Given the description of an element on the screen output the (x, y) to click on. 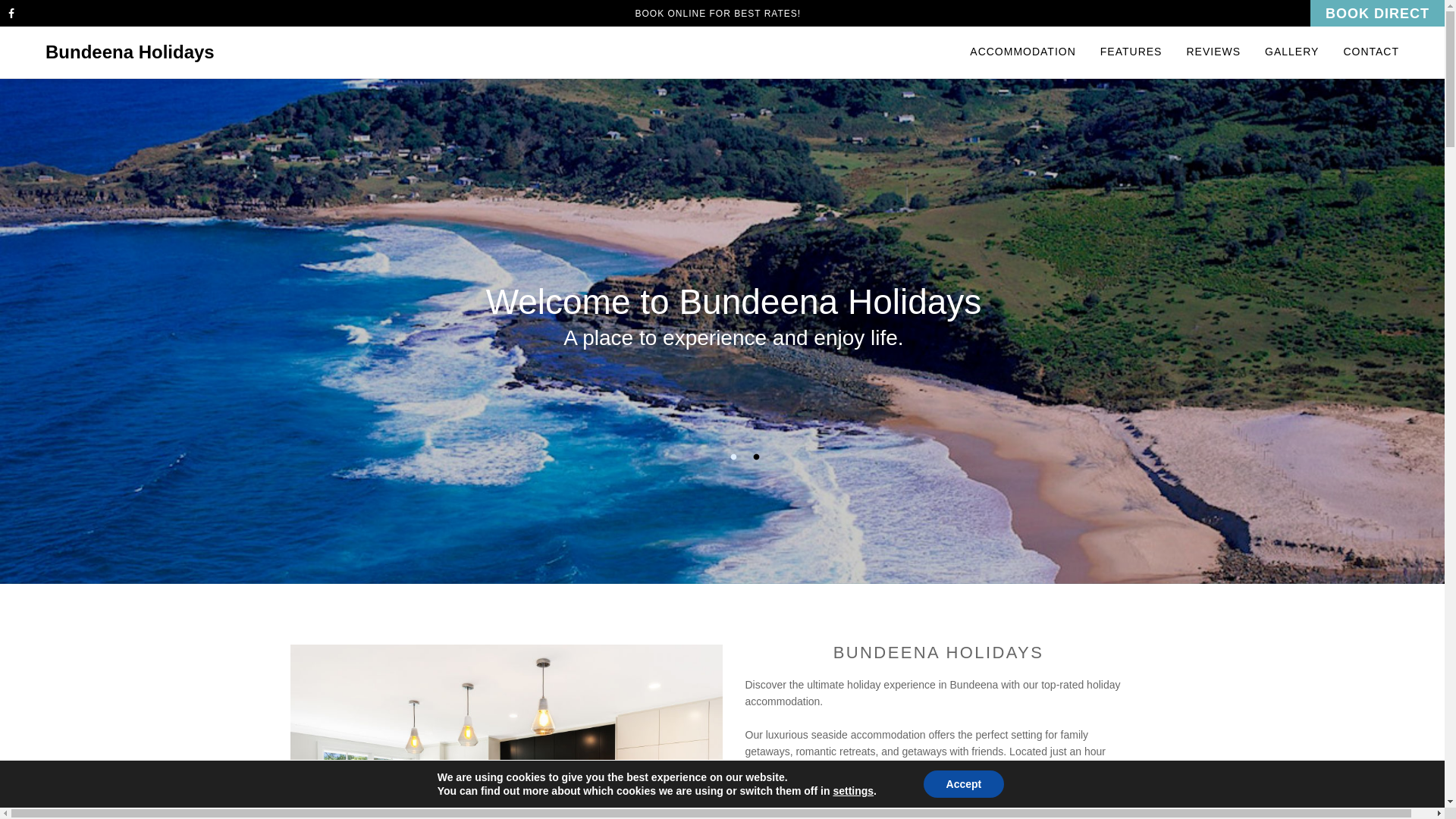
FACEBOOK Element type: text (15, 13)
CONTACT Element type: text (1364, 52)
Accept Element type: text (963, 783)
2 Element type: text (756, 456)
FEATURES Element type: text (1131, 52)
GALLERY Element type: text (1291, 52)
BOOK DIRECT Element type: text (1377, 13)
Bundeena Holidays Element type: text (129, 51)
BOOK ONLINE FOR BEST RATES! Element type: text (718, 13)
ACCOMMODATION Element type: text (1028, 52)
1 Element type: text (733, 456)
REVIEWS Element type: text (1212, 52)
